Given the description of an element on the screen output the (x, y) to click on. 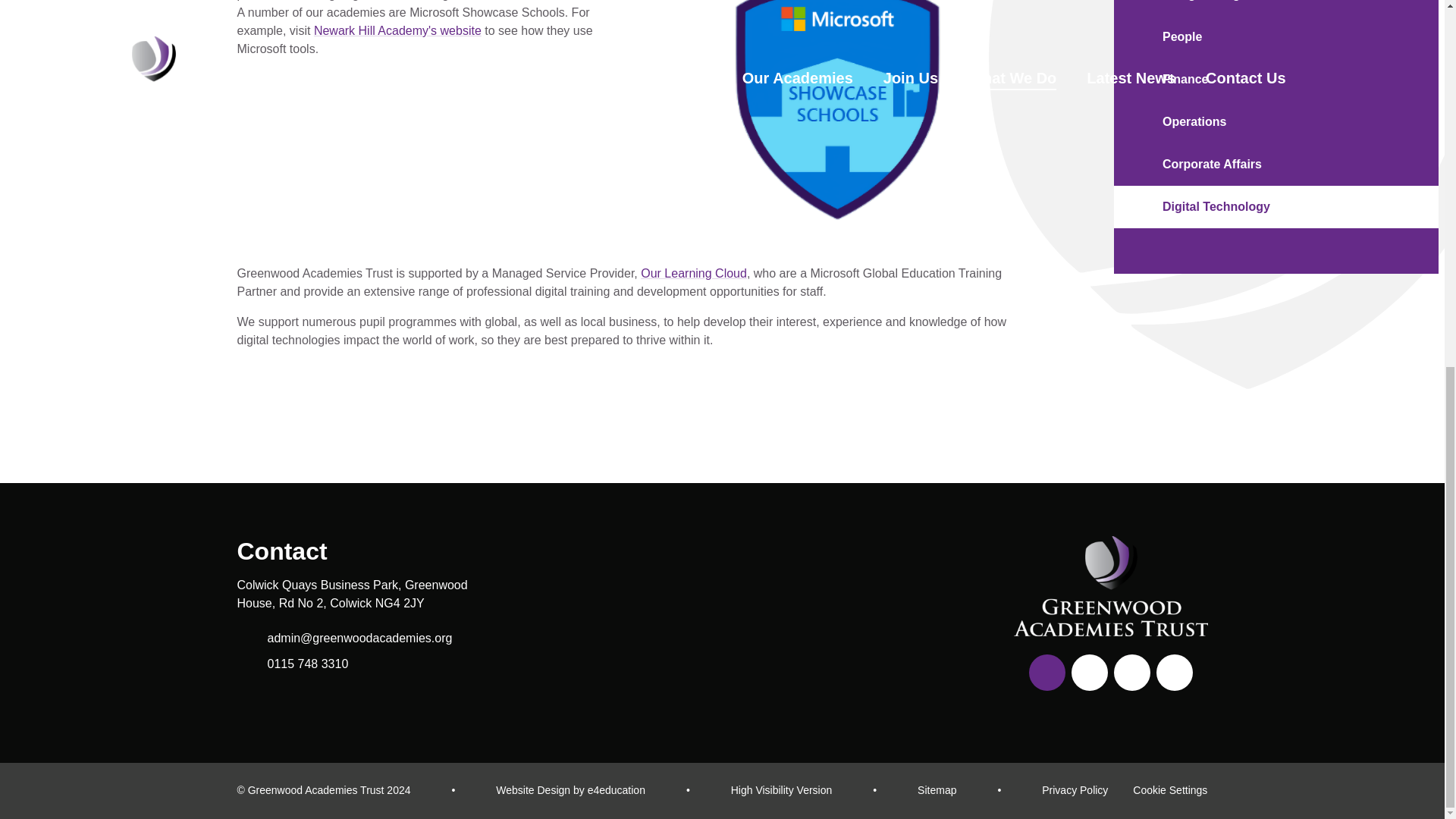
Cookie Settings (1169, 790)
